Given the description of an element on the screen output the (x, y) to click on. 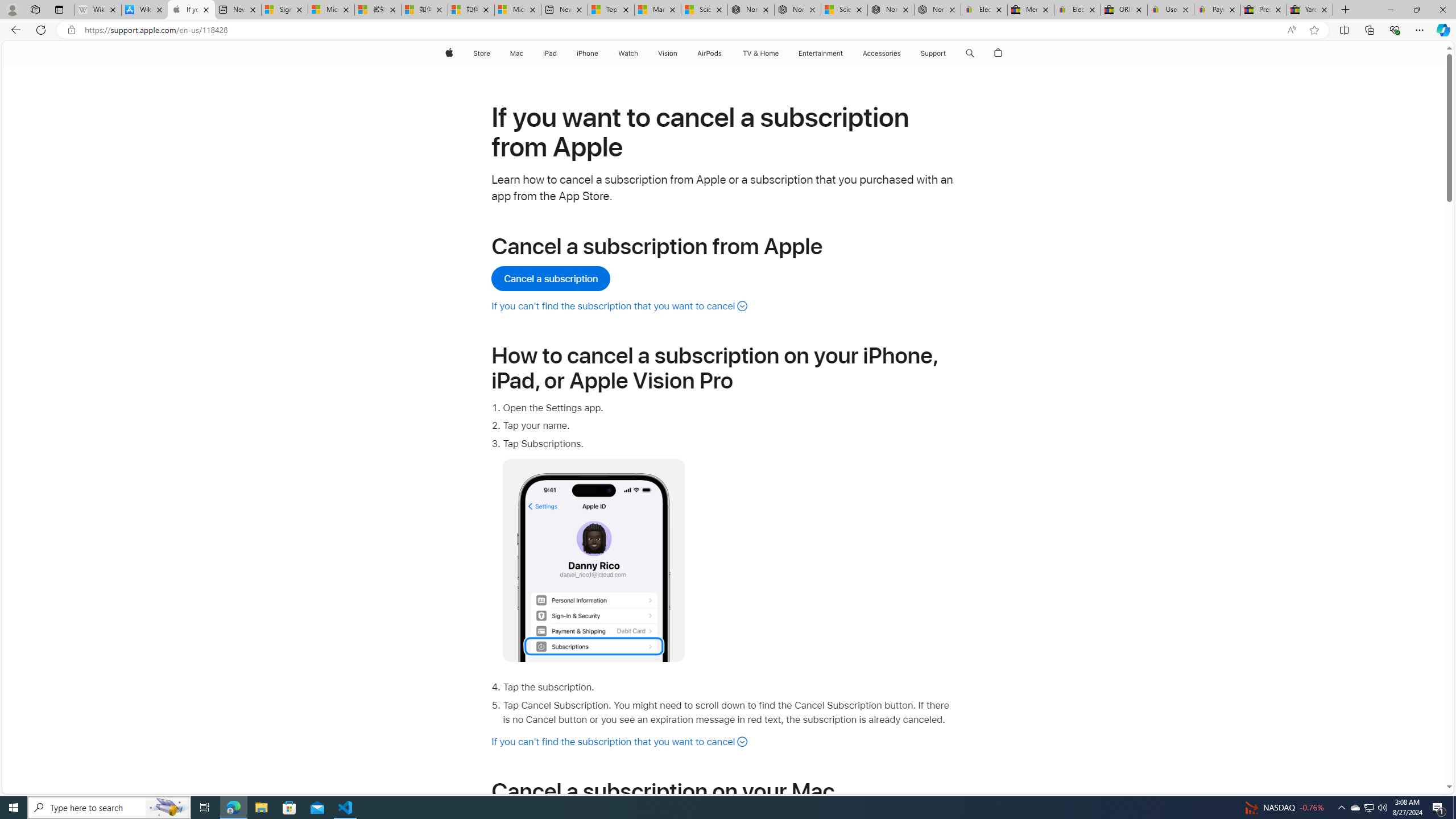
Marine life - MSN (656, 9)
